Given the description of an element on the screen output the (x, y) to click on. 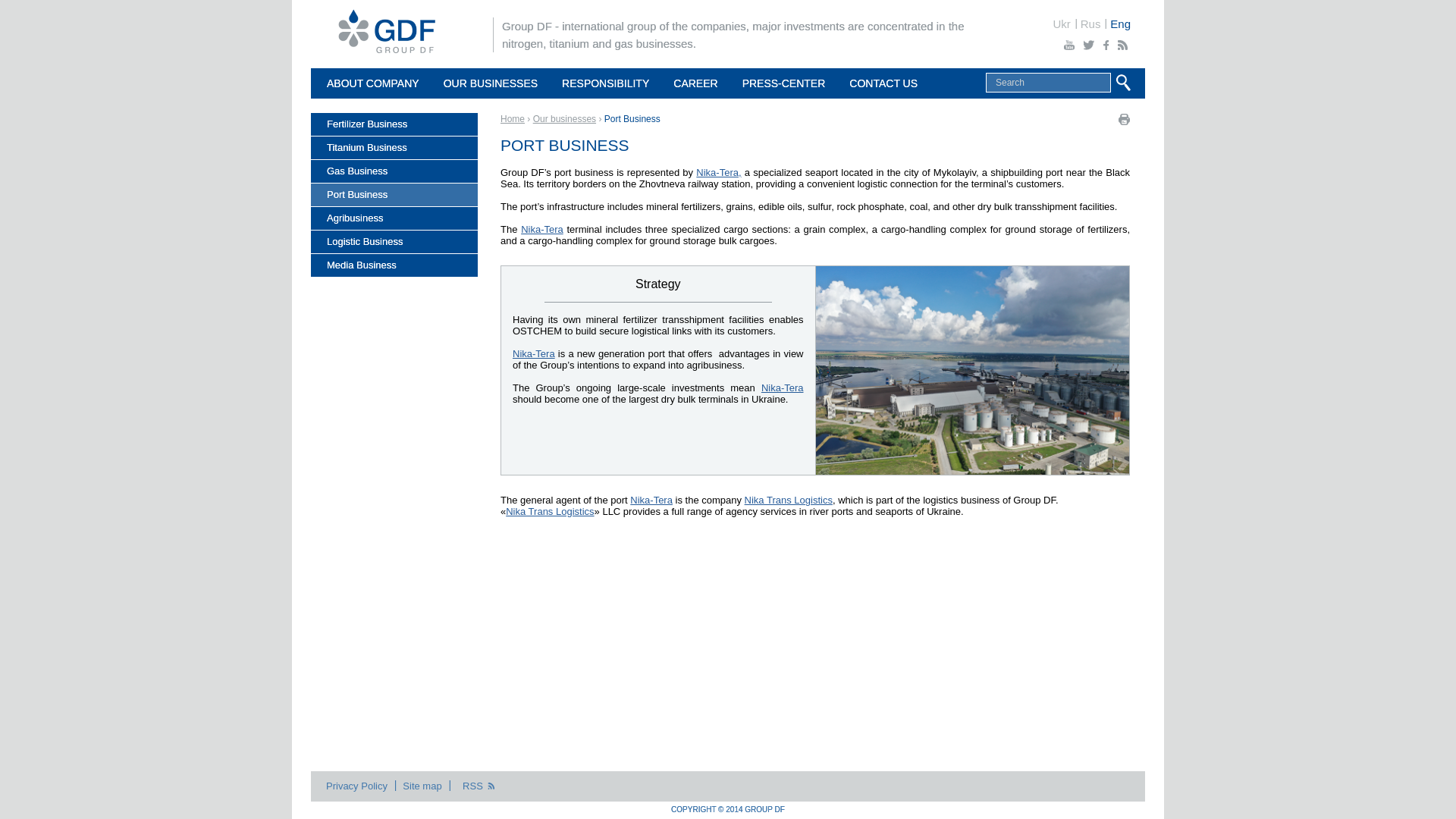
ABOUT COMPANY (372, 82)
RESPONSIBILITY (605, 82)
CAREER (695, 82)
PRESS-CENTER (783, 82)
Ukr (1059, 23)
Search (1047, 82)
CONTACT US (883, 82)
Rus (1088, 23)
OUR BUSINESSES (490, 82)
Fertilizer Business (394, 124)
